Given the description of an element on the screen output the (x, y) to click on. 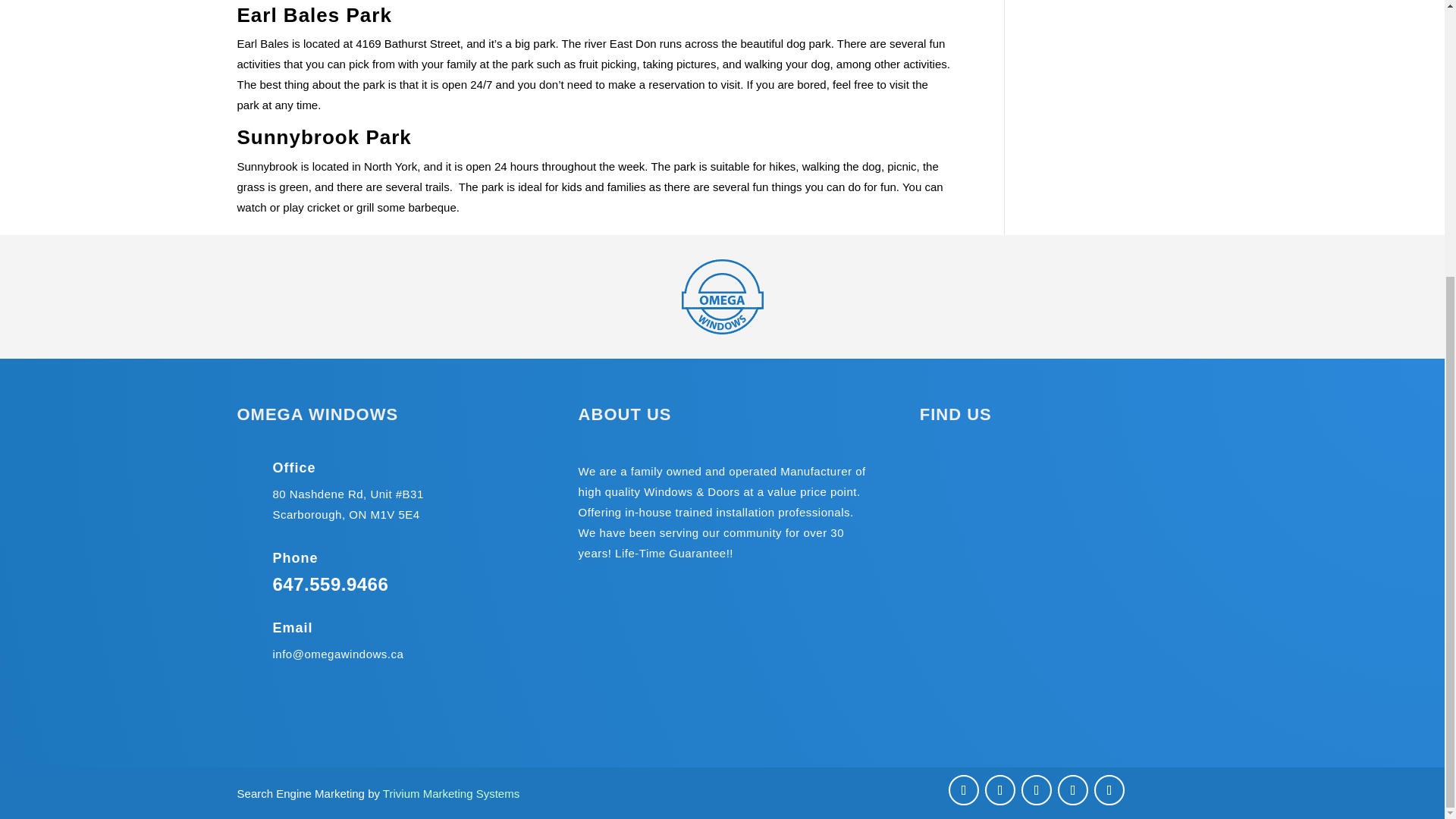
Follow on Twitter (999, 789)
Follow on Youtube (1109, 789)
logo (721, 296)
Follow on Pinterest (1072, 789)
Follow on Instagram (1036, 789)
Follow on Facebook (963, 789)
